Given the description of an element on the screen output the (x, y) to click on. 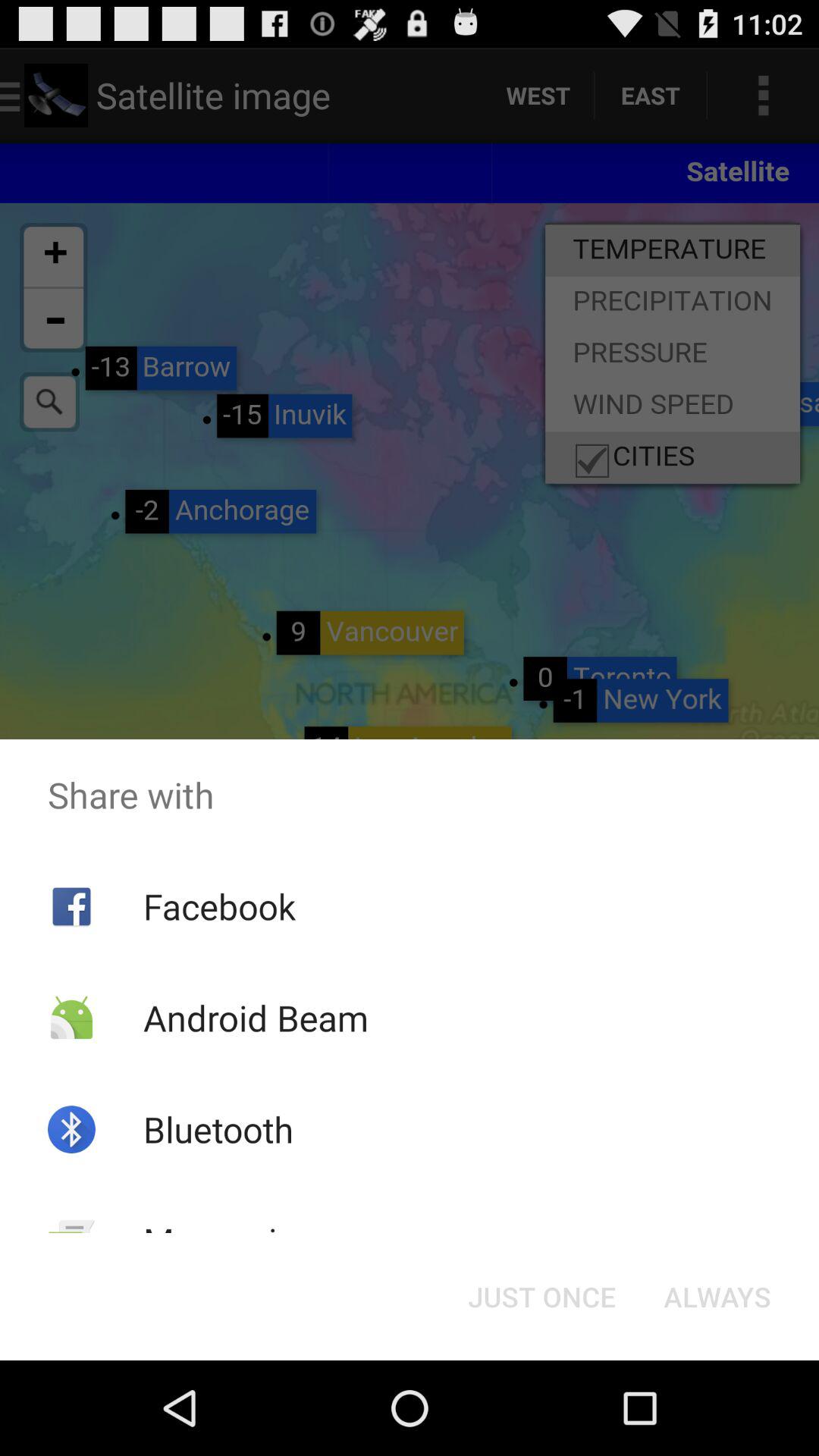
flip until the android beam icon (255, 1017)
